Given the description of an element on the screen output the (x, y) to click on. 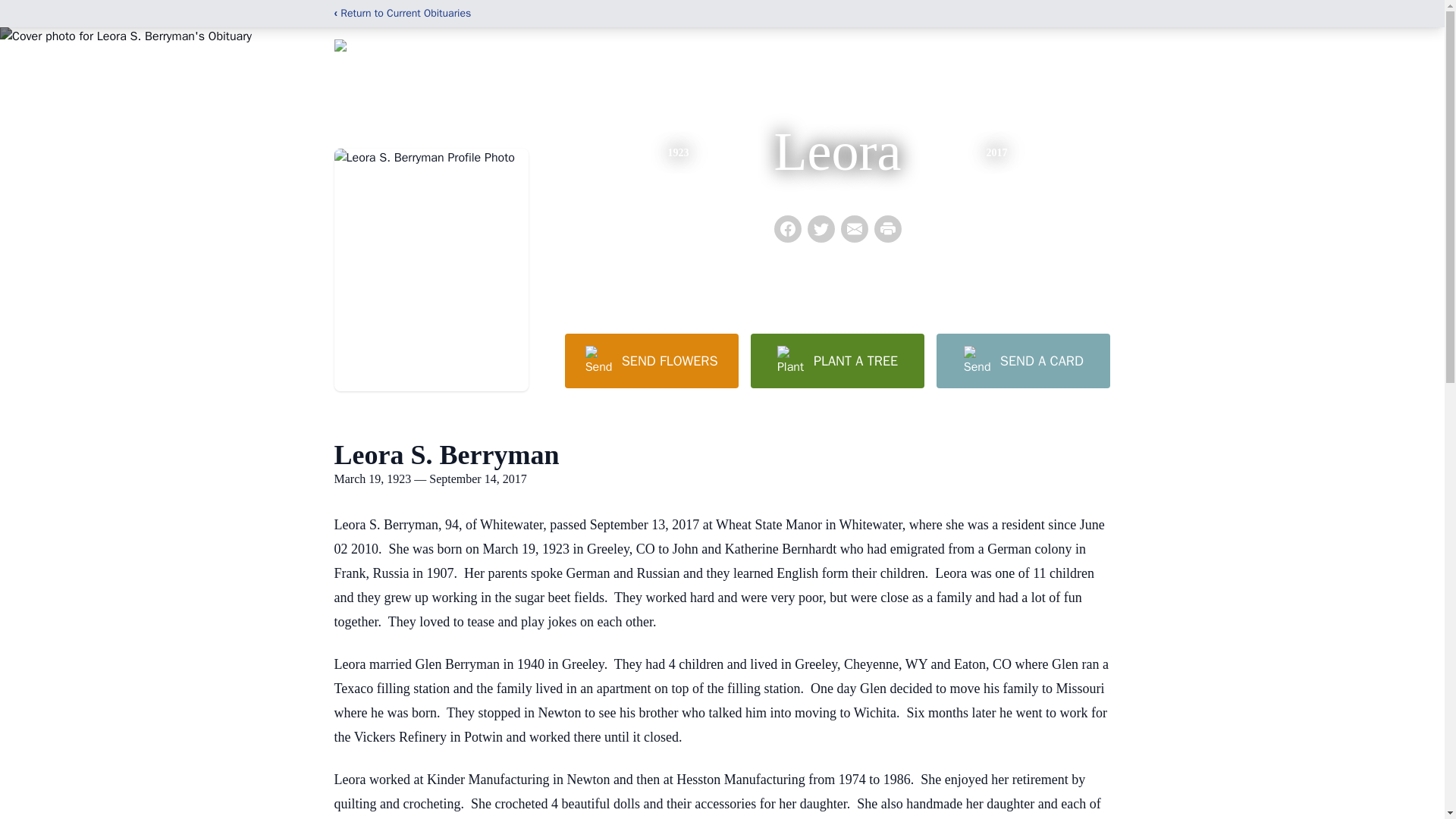
SEND FLOWERS (651, 360)
SEND A CARD (1022, 360)
PLANT A TREE (837, 360)
